Given the description of an element on the screen output the (x, y) to click on. 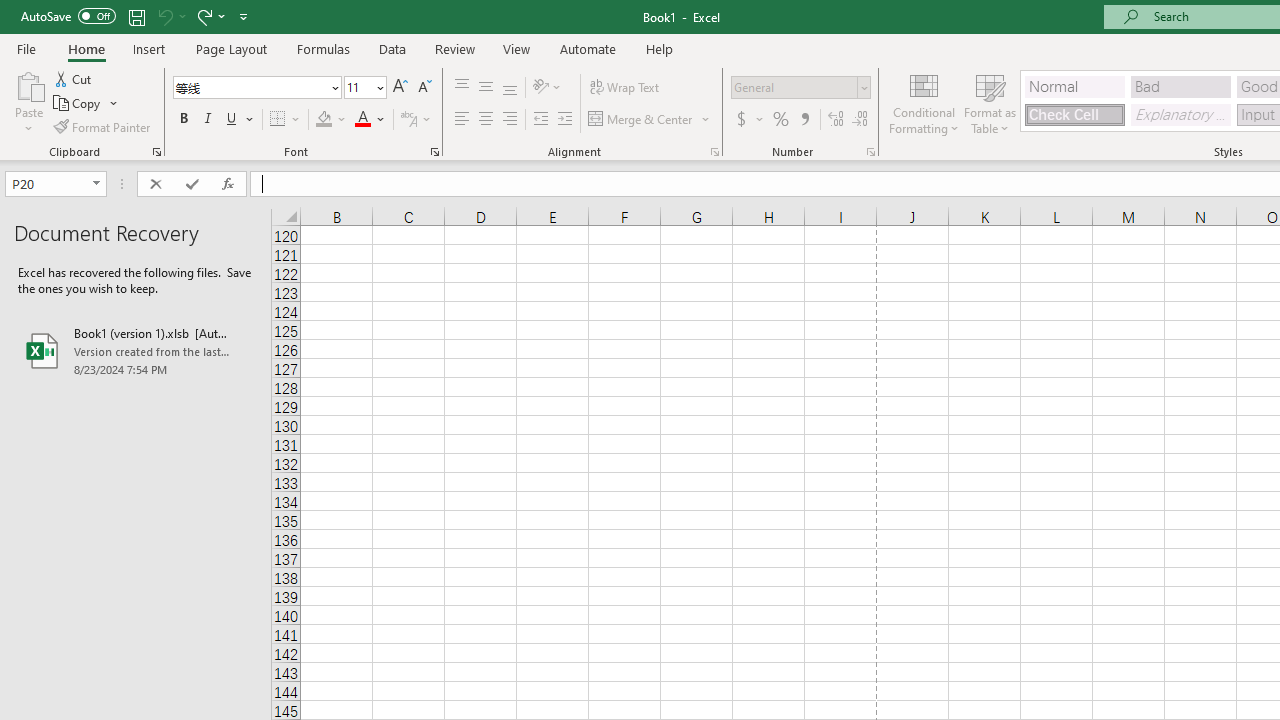
Format Cell Alignment (714, 151)
Bold (183, 119)
Underline (239, 119)
Increase Decimal (836, 119)
Bottom Border (278, 119)
Align Left (461, 119)
Underline (232, 119)
Merge & Center (641, 119)
Bottom Align (509, 87)
Comma Style (804, 119)
